Given the description of an element on the screen output the (x, y) to click on. 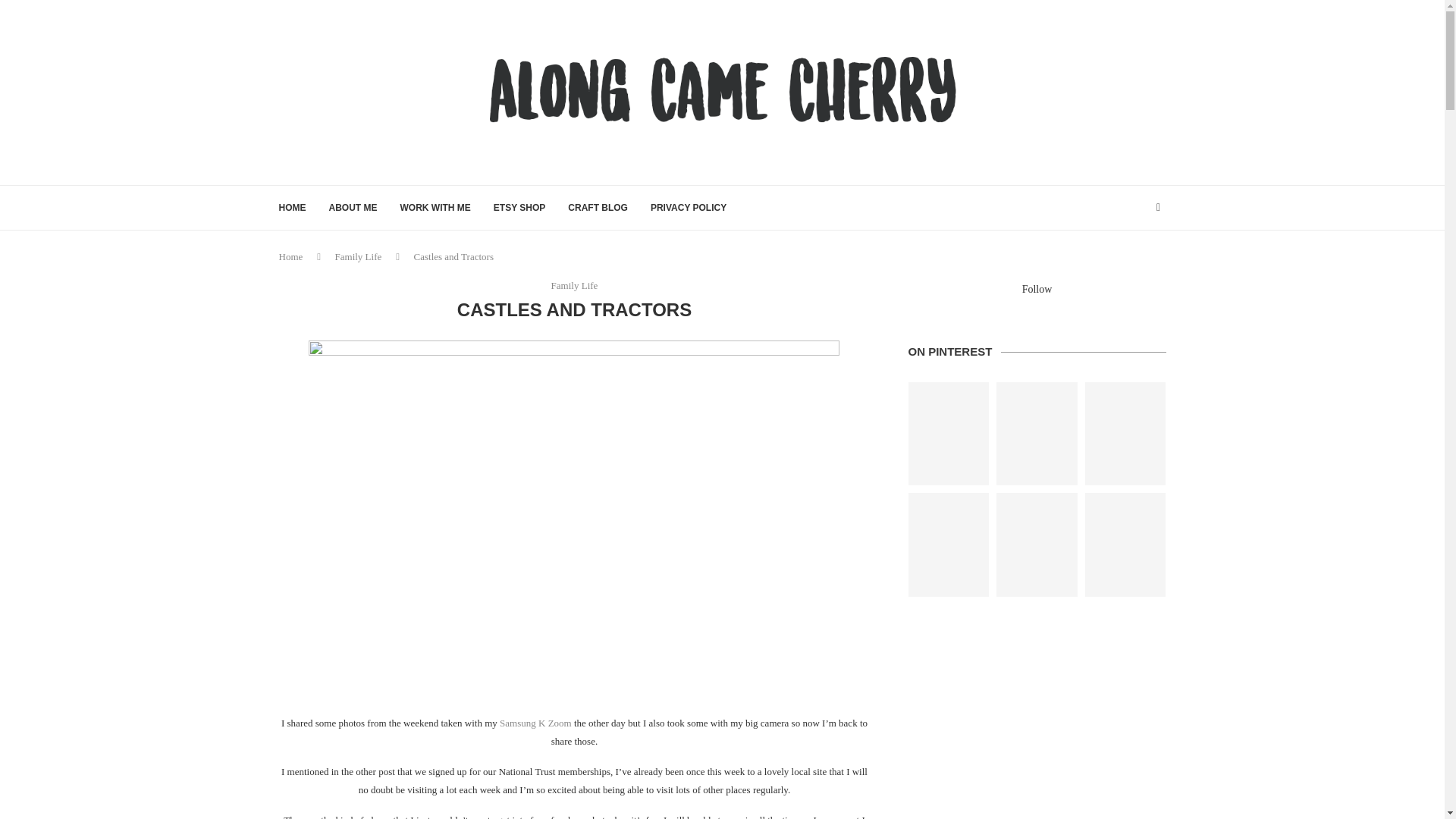
Home (290, 256)
Family Life (357, 256)
Samsung K Zoom (535, 722)
PRIVACY POLICY (688, 207)
Family Life (574, 285)
ABOUT ME (353, 207)
CRAFT BLOG (597, 207)
Our Weekend Through The Samsung K Zoom Lens (535, 722)
WORK WITH ME (435, 207)
